Given the description of an element on the screen output the (x, y) to click on. 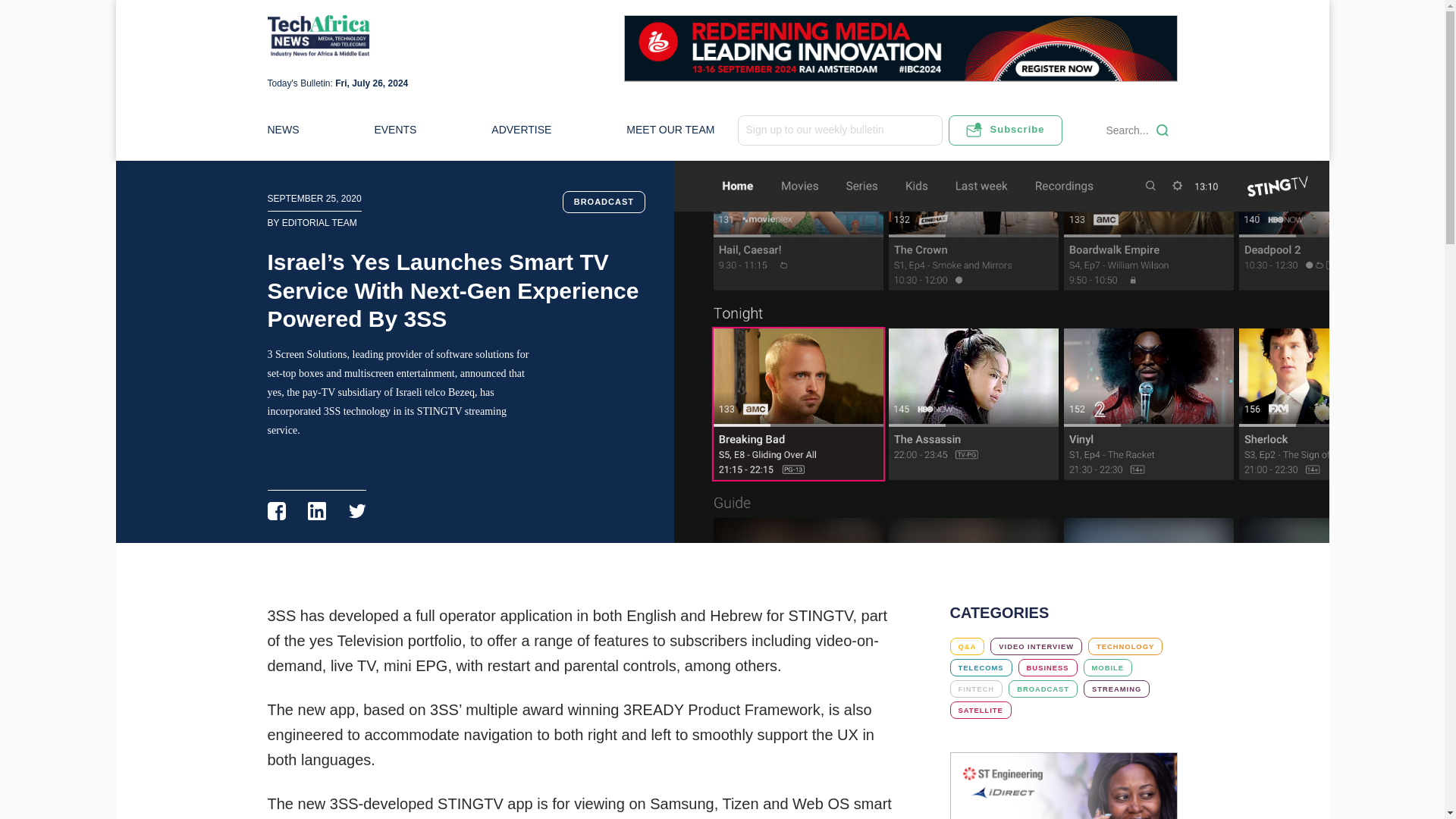
FINTECH (976, 688)
Search (1162, 130)
Search (1162, 130)
TECHNOLOGY (1124, 646)
ADVERTISE (521, 129)
STREAMING (1116, 688)
Subscribe (1004, 130)
BUSINESS (1047, 667)
TELECOMS (980, 667)
MEET OUR TEAM (670, 129)
ADVERTISE (521, 129)
BROADCAST (1043, 688)
MEET OUR TEAM (670, 129)
SATELLITE (979, 710)
VIDEO INTERVIEW (1035, 646)
